Given the description of an element on the screen output the (x, y) to click on. 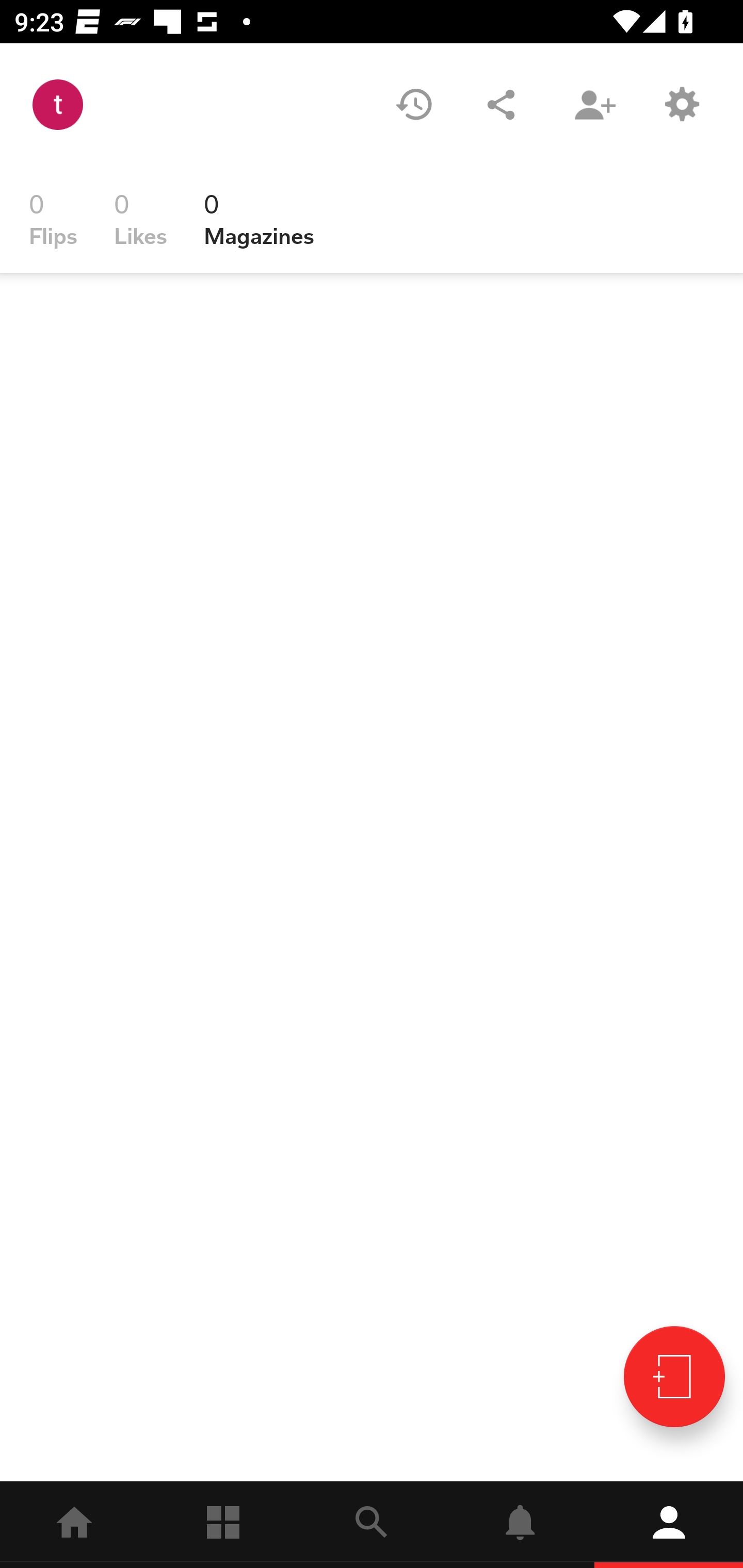
Share (500, 104)
Find Friends (594, 104)
Settings (681, 104)
0 Flips (53, 219)
0 Likes (140, 219)
0 Magazines (258, 219)
home (74, 1524)
Following (222, 1524)
explore (371, 1524)
Notifications (519, 1524)
Profile (668, 1524)
